Given the description of an element on the screen output the (x, y) to click on. 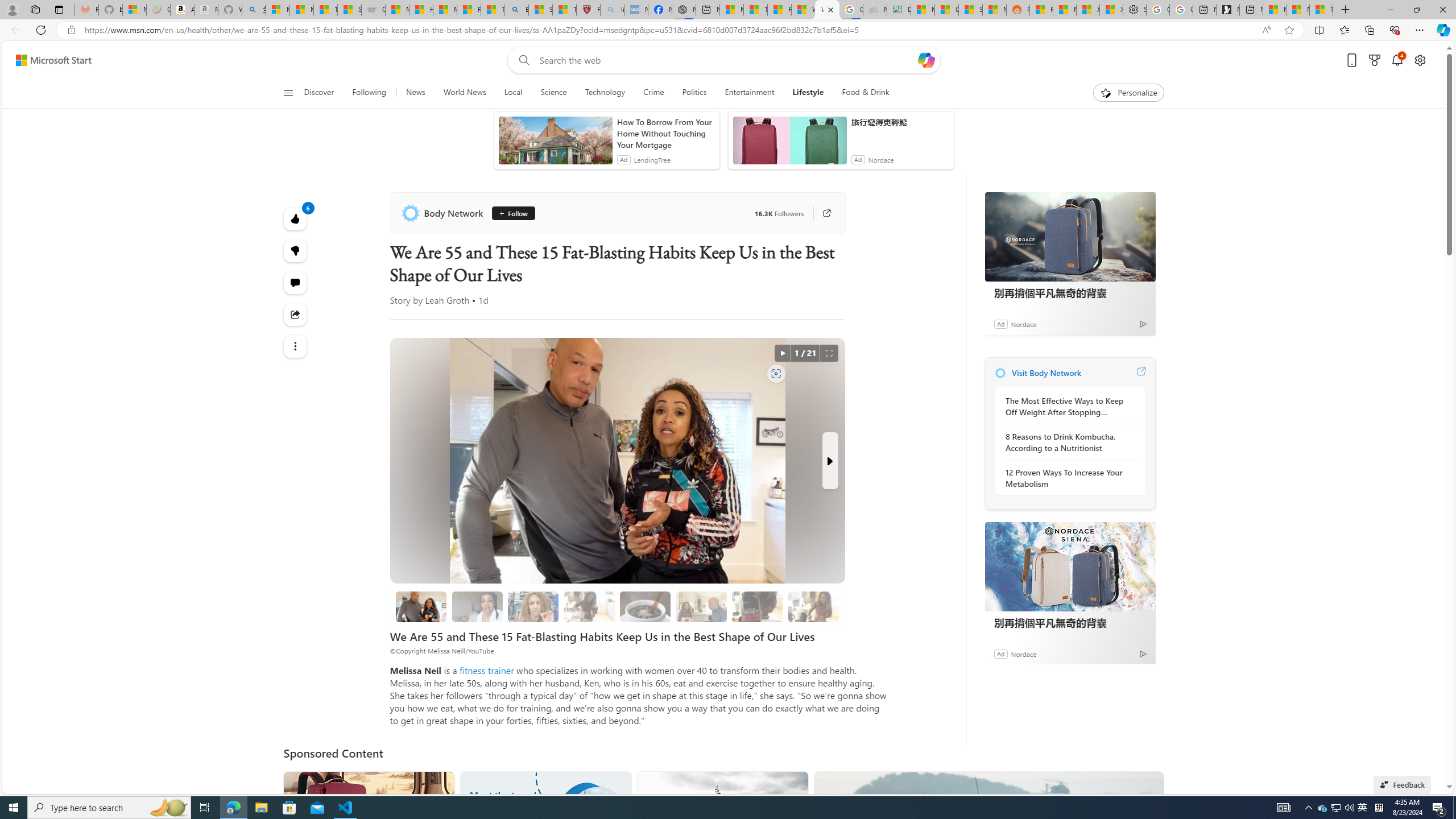
1 We Eat a Protein-Packed Pre-Workout Snack (476, 606)
12 Popular Science Lies that Must be Corrected (563, 9)
2 They Use Protein Powder for Flavor (533, 606)
Bing (515, 9)
Fitness - MSN (779, 9)
